Given the description of an element on the screen output the (x, y) to click on. 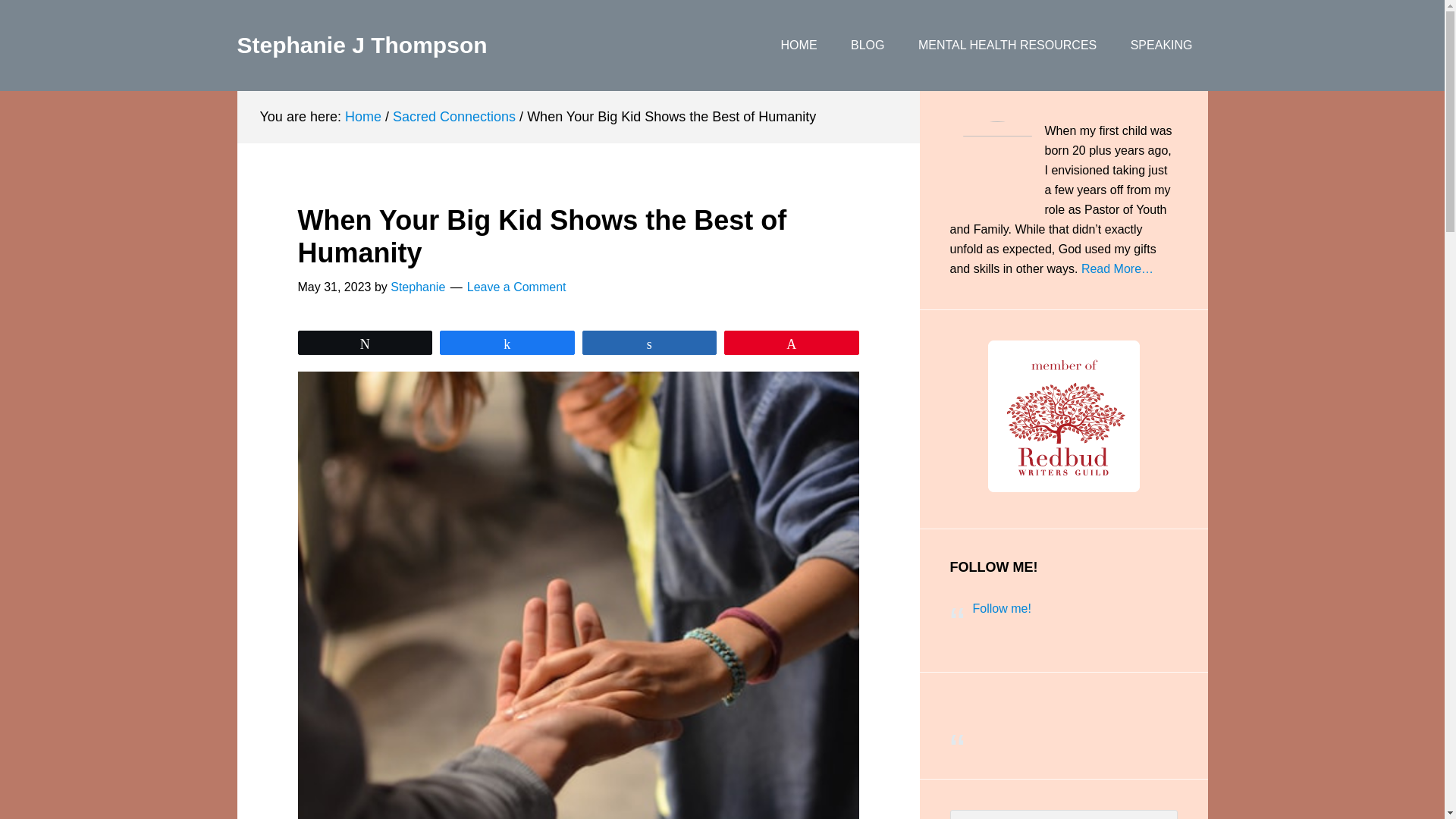
MENTAL HEALTH RESOURCES (1007, 45)
Leave a Comment (516, 286)
Home (363, 116)
SPEAKING (1161, 45)
Sacred Connections (454, 116)
FOLLOW ME! (992, 566)
Stephanie (417, 286)
Stephanie J Thompson (360, 44)
Follow me! (1001, 608)
